Given the description of an element on the screen output the (x, y) to click on. 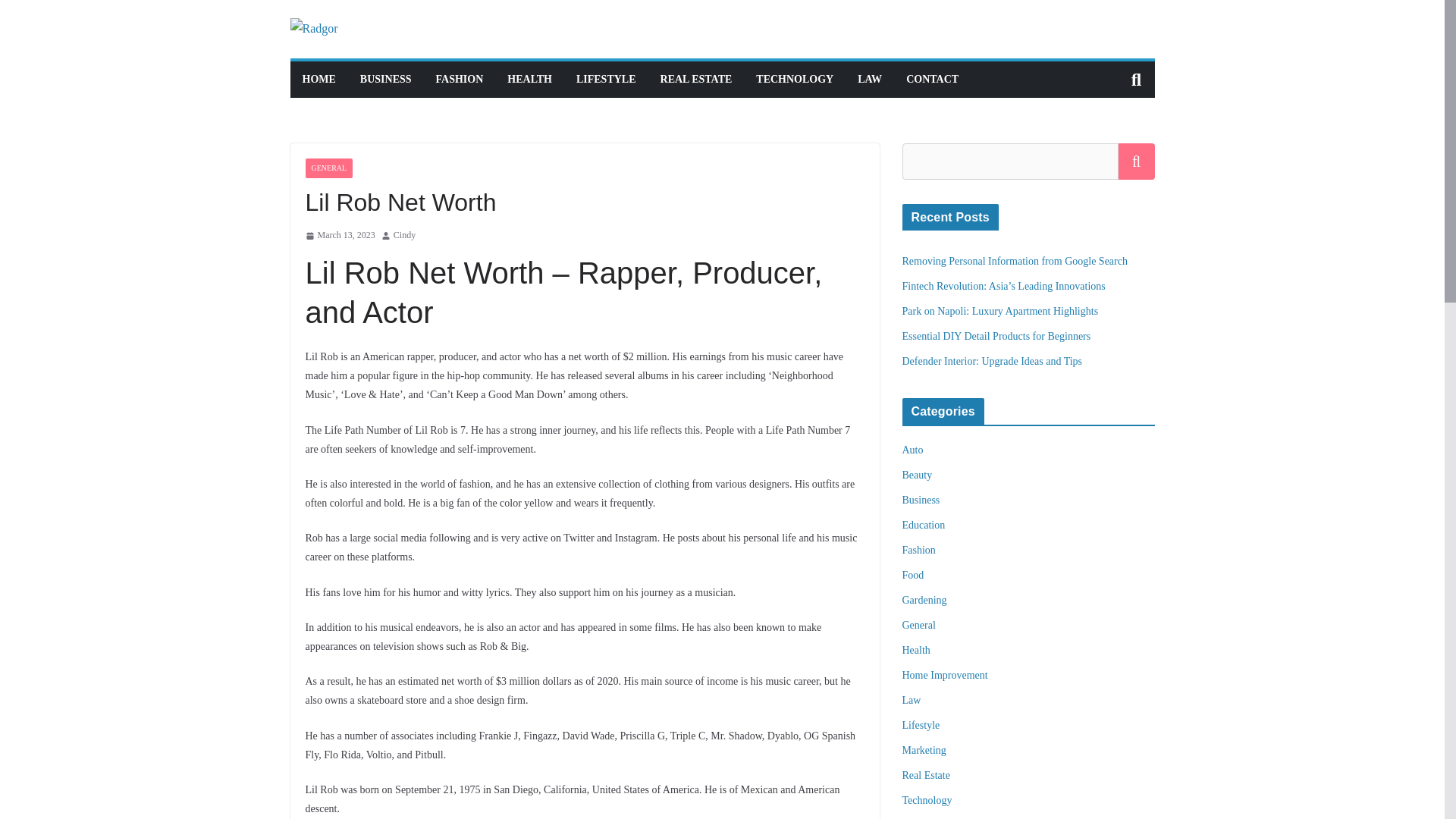
Health (916, 650)
Removing Personal Information from Google Search (1014, 260)
CONTACT (931, 79)
Auto (912, 449)
General (919, 624)
HOME (317, 79)
TECHNOLOGY (793, 79)
BUSINESS (385, 79)
HEALTH (528, 79)
Beauty (917, 474)
